Given the description of an element on the screen output the (x, y) to click on. 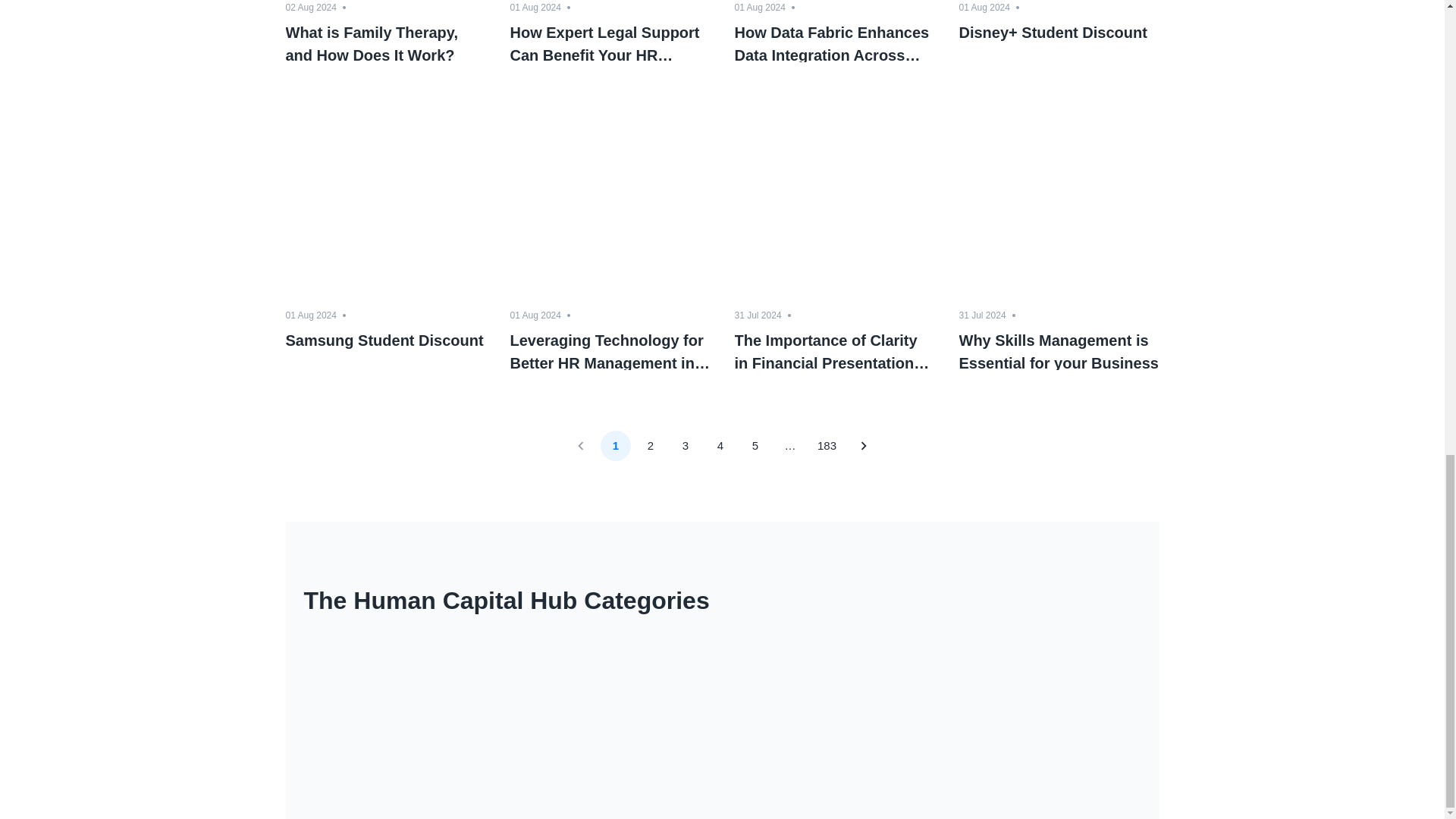
4 (719, 445)
What is Family Therapy, and How Does It Work? (384, 41)
1 (614, 445)
How Expert Legal Support Can Benefit Your HR Department (609, 41)
2 (649, 445)
5 (754, 445)
183 (826, 445)
How Data Fabric Enhances Data Integration Across Enterprises (833, 41)
Samsung Student Discount (384, 349)
Why Skills Management is Essential for your Business (1058, 349)
3 (684, 445)
